Given the description of an element on the screen output the (x, y) to click on. 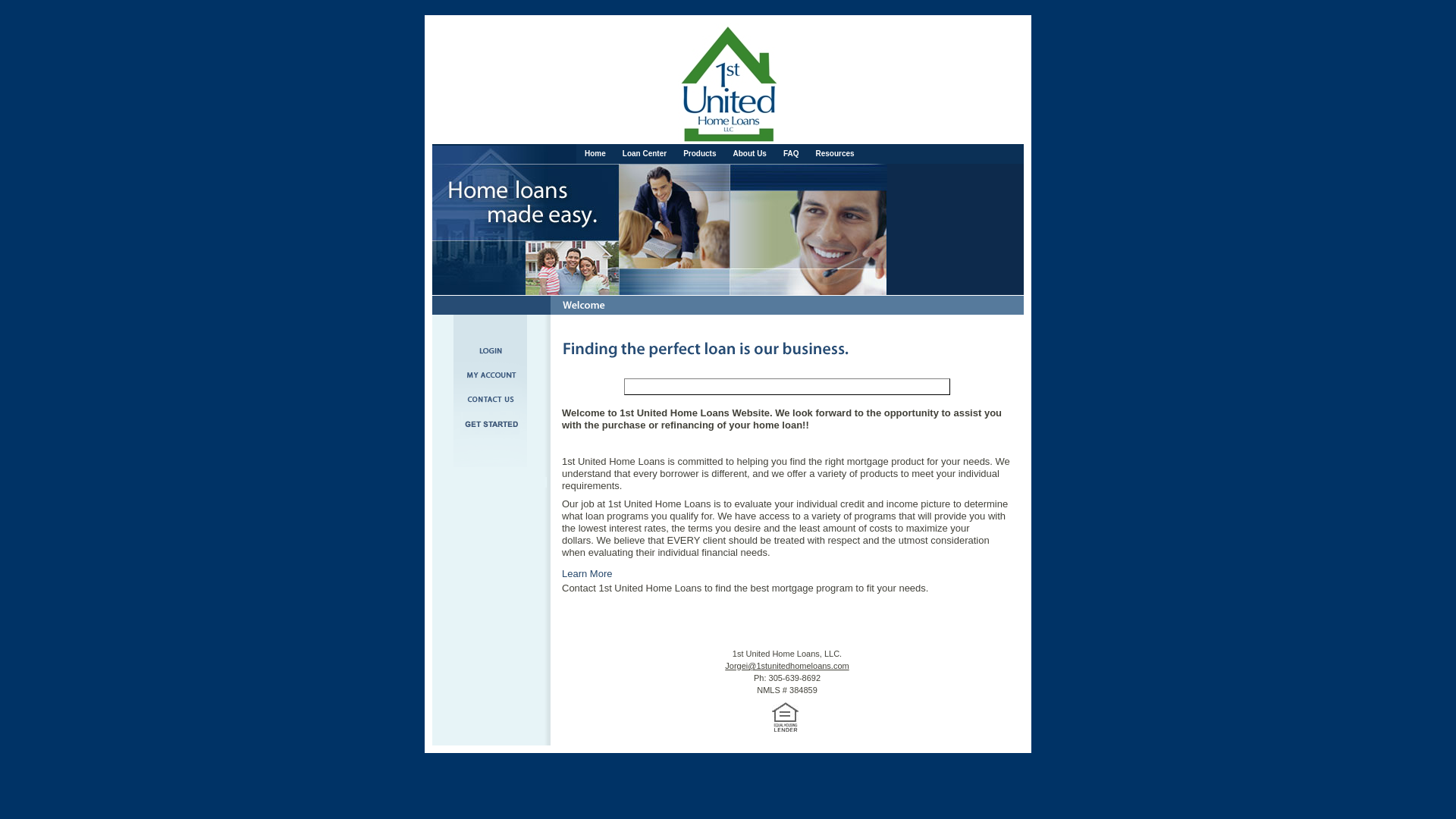
Jorgei@1stunitedhomeloans.com Element type: text (786, 665)
